Given the description of an element on the screen output the (x, y) to click on. 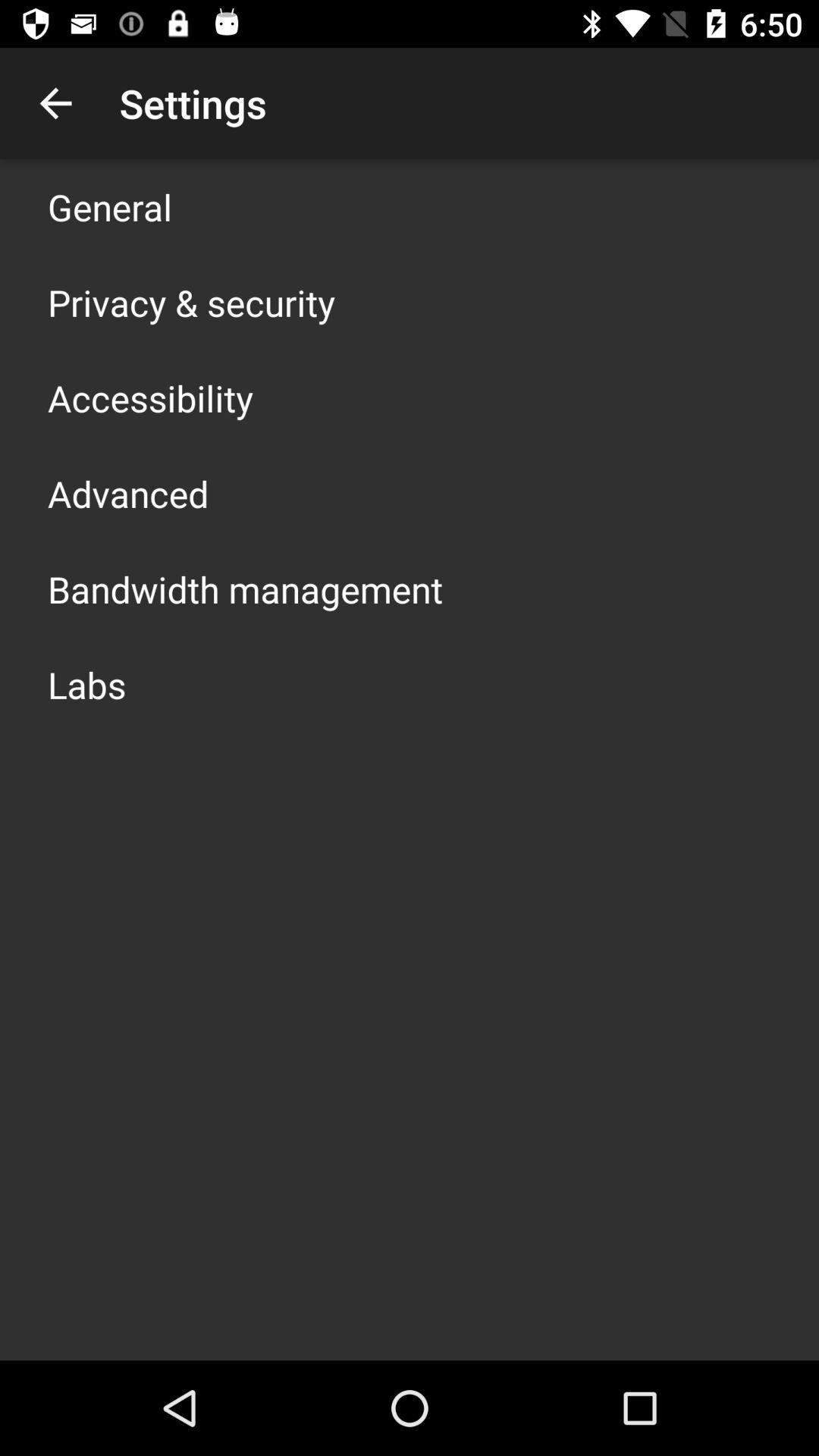
launch the bandwidth management item (245, 588)
